Given the description of an element on the screen output the (x, y) to click on. 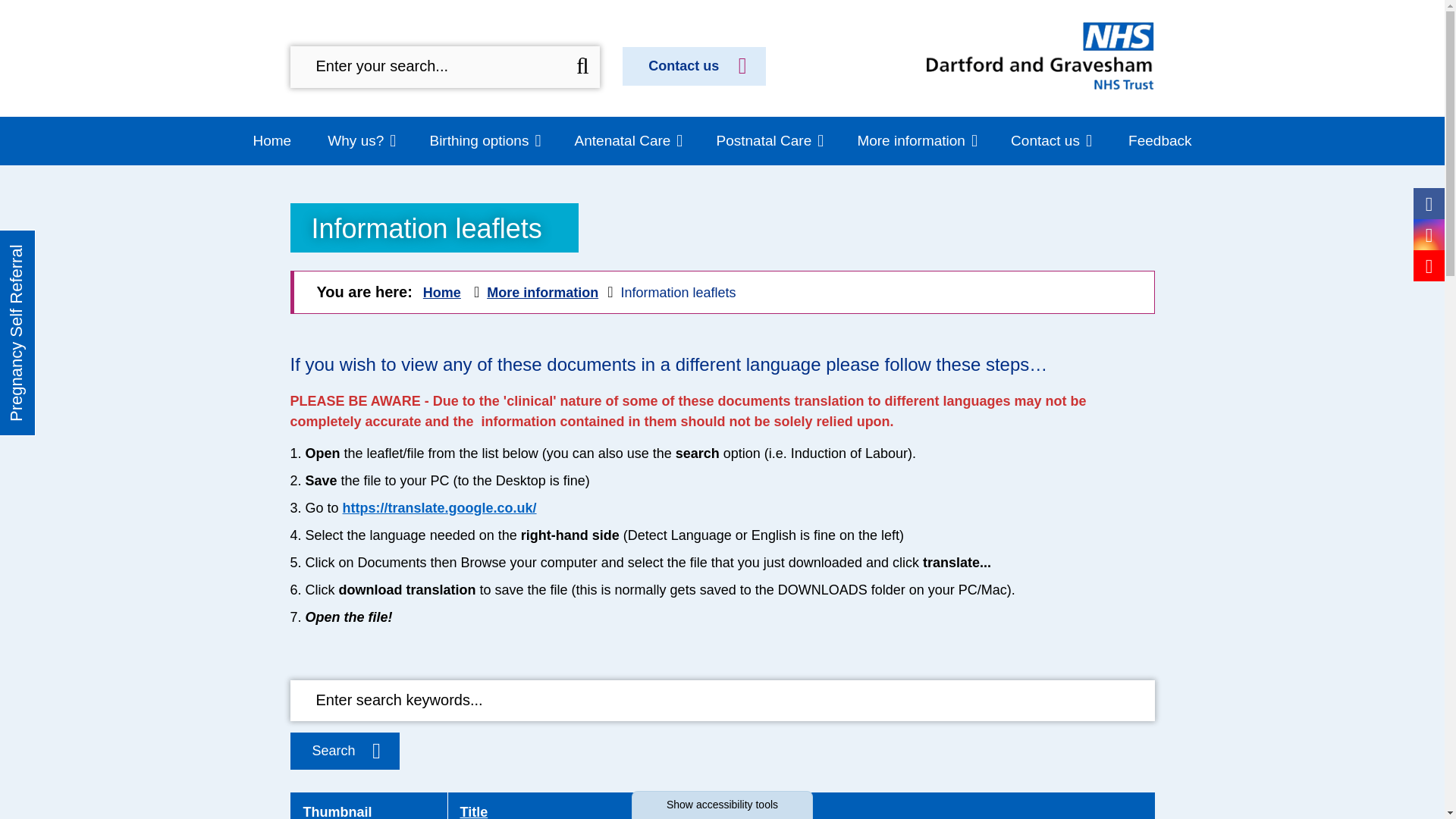
Contact us (694, 65)
Consultant Anaethetists (589, 83)
Show accessibility tools (721, 805)
Midwifery Managers (342, 85)
Why us? (361, 141)
Consultant Obstetricians (591, 57)
Why us? (991, 120)
Our Consultants (558, 29)
Search this website (581, 66)
Home (272, 141)
Birthing options (485, 141)
Homepage (1040, 56)
Introduction from our Director of Midwifery (379, 39)
Specialist Midwifery Team (360, 120)
Maternity - Facebook (1428, 204)
